Given the description of an element on the screen output the (x, y) to click on. 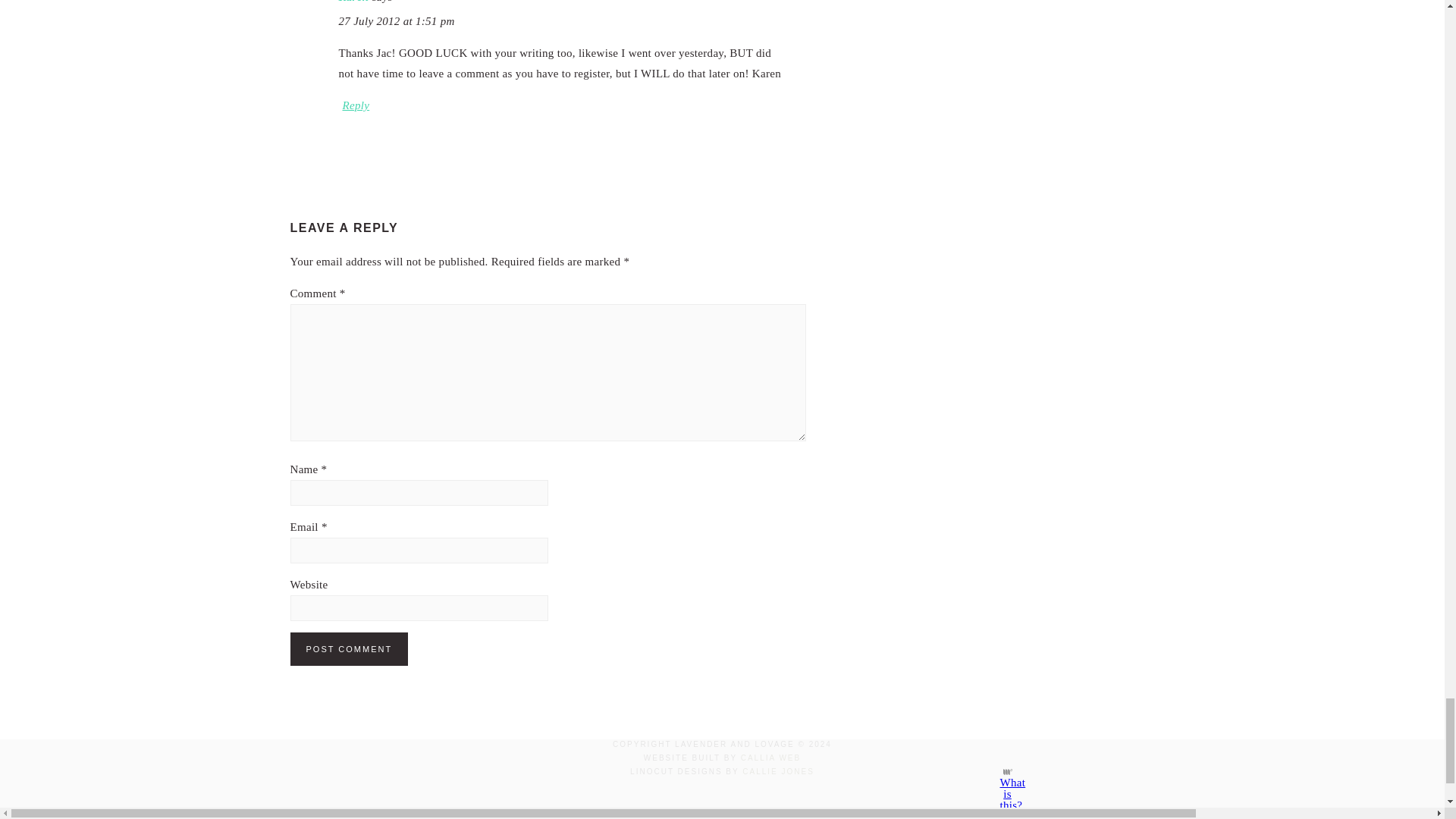
Post Comment (348, 648)
